Given the description of an element on the screen output the (x, y) to click on. 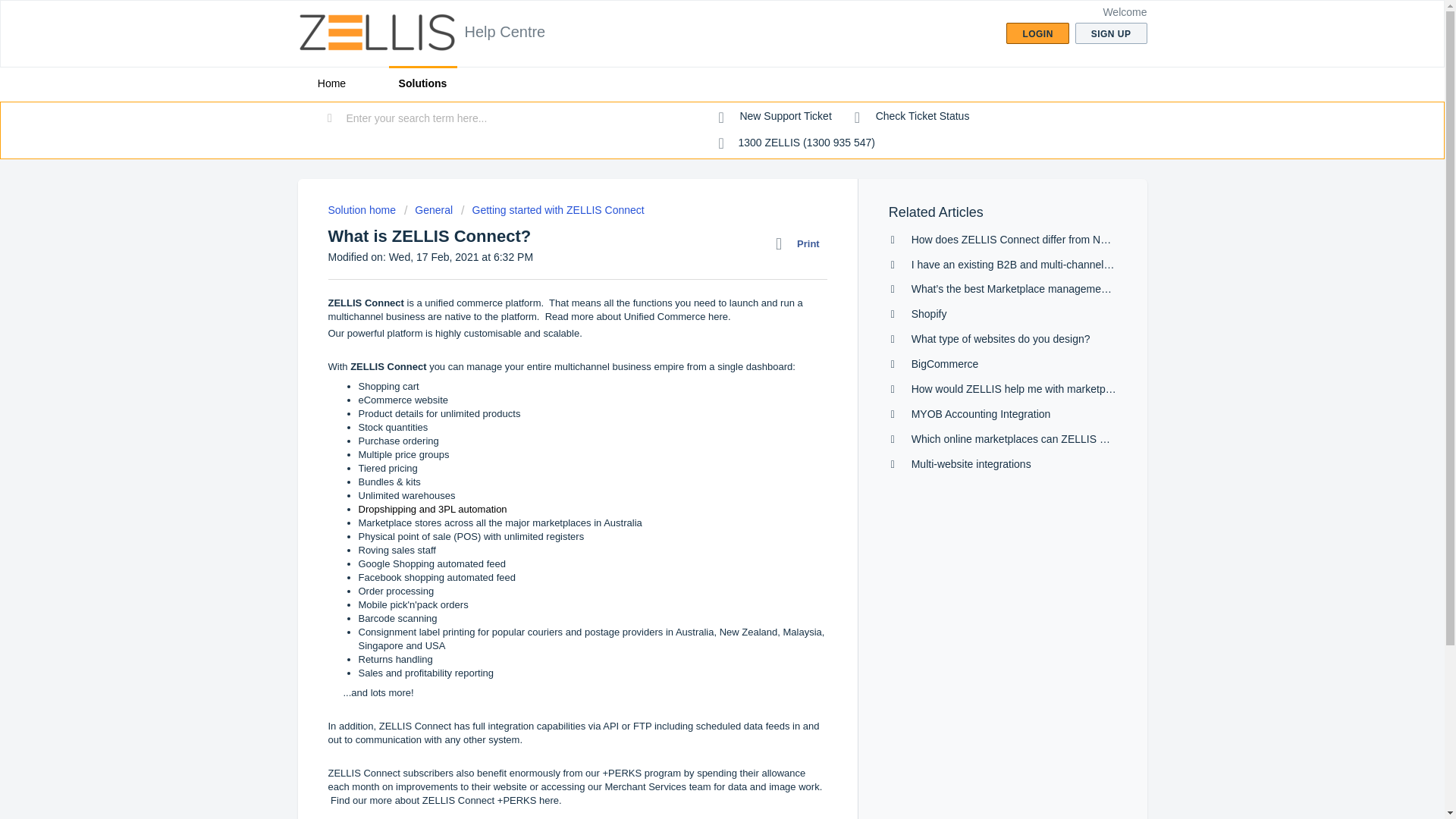
LOGIN (1037, 33)
General (428, 209)
Print (801, 243)
Multi-website integrations (970, 463)
SIGN UP (1111, 33)
Unified Commerce here (676, 316)
Check ticket status (911, 116)
Home (331, 83)
Getting started with ZELLIS Connect (553, 209)
New support ticket (775, 116)
Solutions (422, 83)
Which online marketplaces can ZELLIS Connect integrate with? (1061, 439)
BigCommerce (944, 363)
What type of websites do you design? (1000, 338)
